Given the description of an element on the screen output the (x, y) to click on. 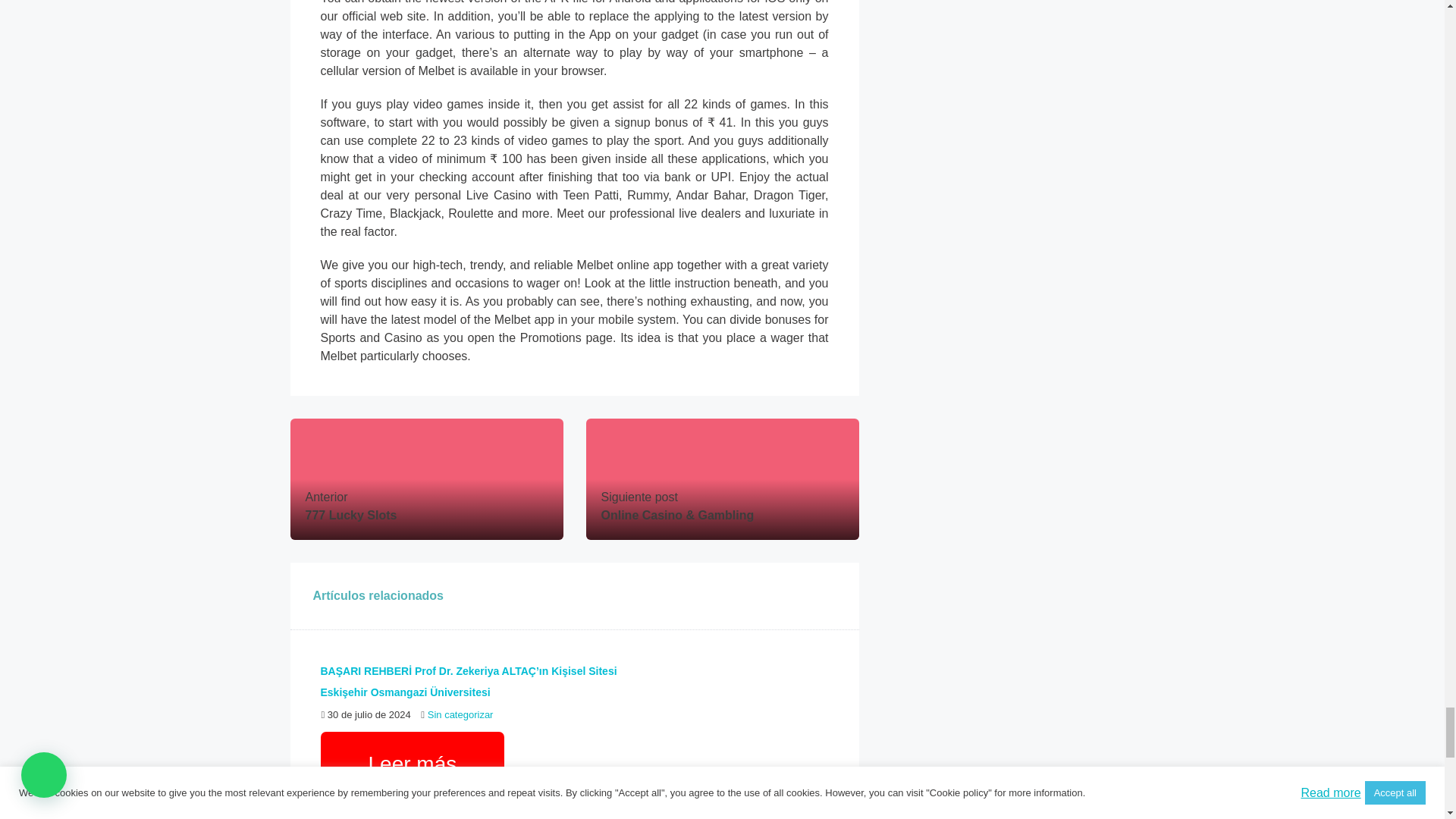
Sin categorizar (460, 714)
